Given the description of an element on the screen output the (x, y) to click on. 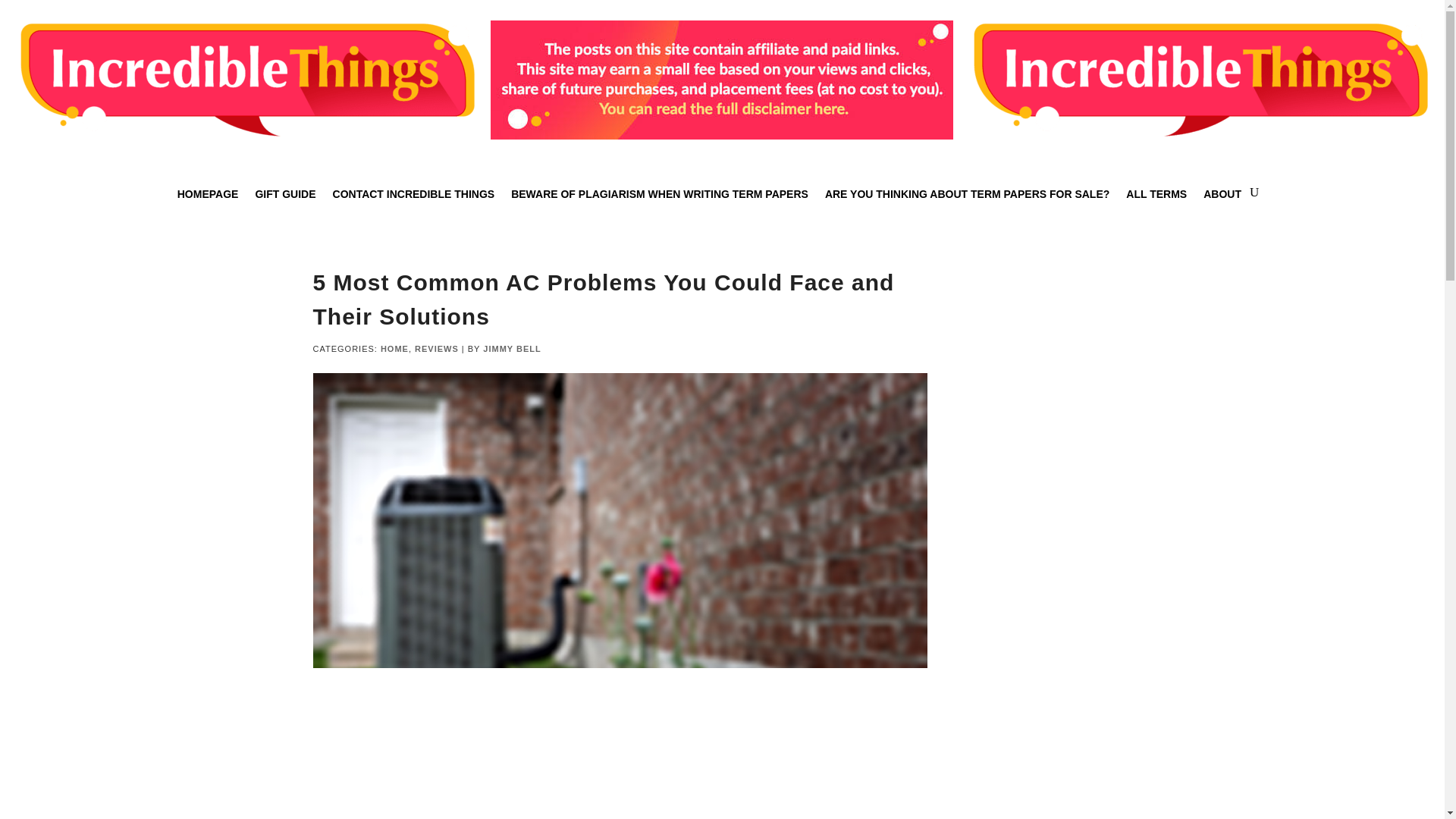
View all posts in Home (394, 347)
3-1 (721, 79)
HOME (394, 347)
HOMEPAGE (207, 205)
ALL TERMS (1155, 205)
ARE YOU THINKING ABOUT TERM PAPERS FOR SALE? (967, 205)
1-1 (245, 79)
ABOUT (1222, 205)
GIFT GUIDE (284, 205)
View all posts in Reviews (436, 347)
REVIEWS (436, 347)
2-1 (1198, 79)
JIMMY BELL (511, 347)
CONTACT INCREDIBLE THINGS (414, 205)
BEWARE OF PLAGIARISM WHEN WRITING TERM PAPERS (659, 205)
